Given the description of an element on the screen output the (x, y) to click on. 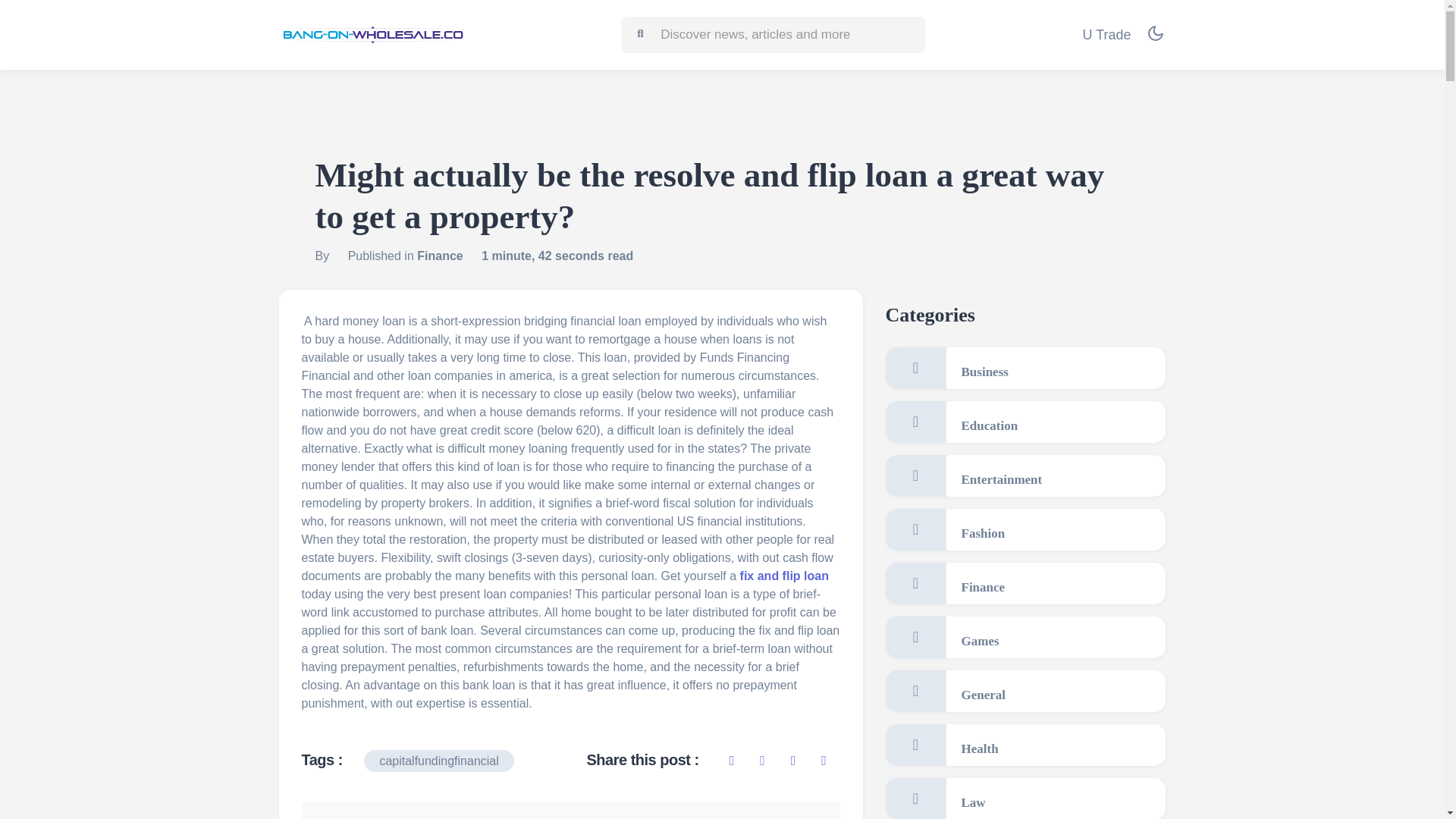
Health (1025, 744)
Business (1025, 368)
Finance (439, 255)
Education (1025, 422)
Finance (1025, 583)
Games (1025, 637)
U Trade (1106, 34)
Previous Post (363, 818)
capitalfundingfinancial (438, 761)
Fashion (1025, 529)
fix and flip loan (783, 575)
Law (1025, 798)
General (1025, 690)
Entertainment (1025, 475)
Next Post (791, 818)
